Given the description of an element on the screen output the (x, y) to click on. 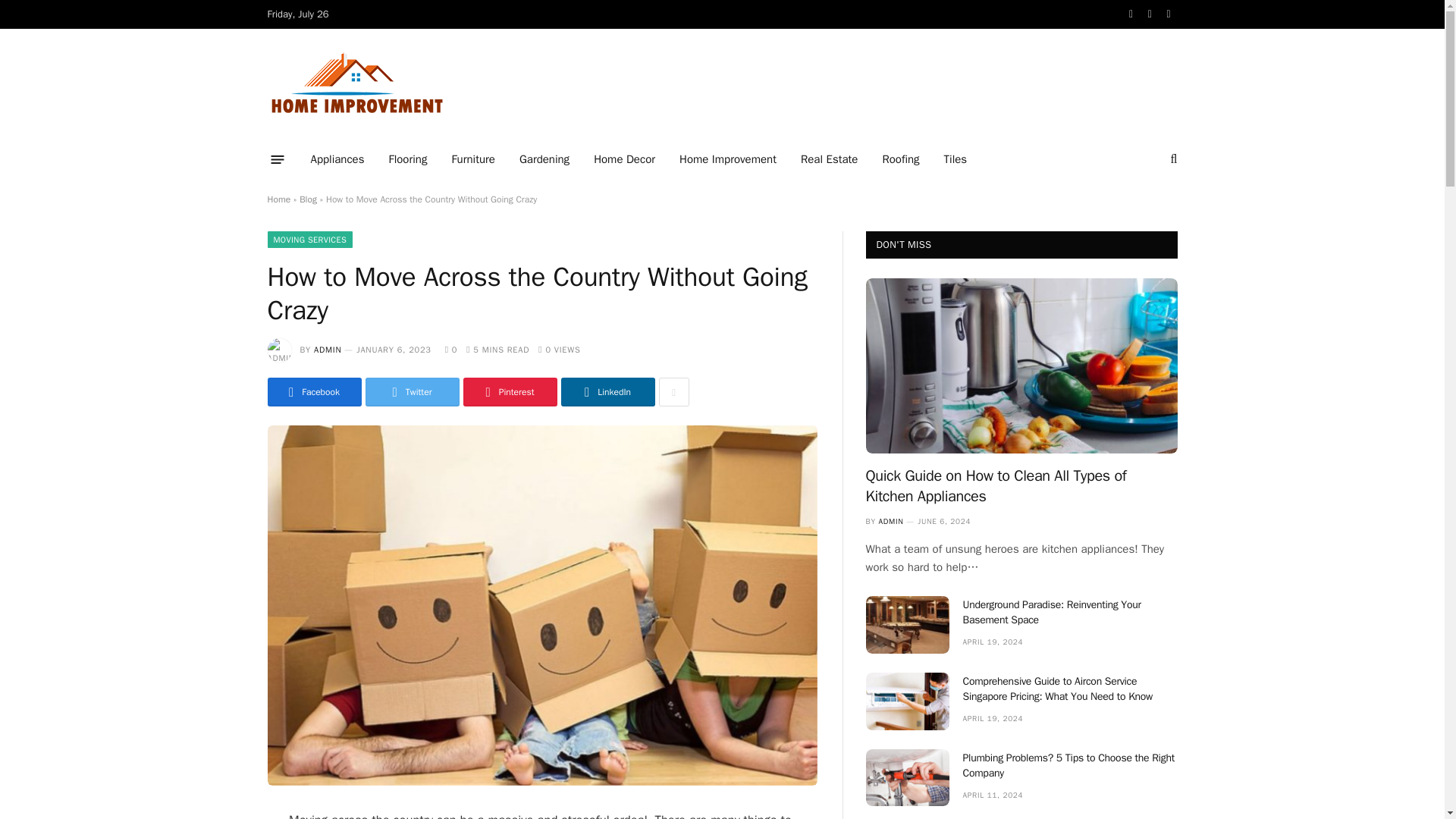
0 (451, 348)
Furniture (472, 159)
Real Estate (829, 159)
Twitter (412, 391)
Facebook (313, 391)
Home Improvement (356, 84)
Blog (308, 199)
Home (277, 199)
Flooring (407, 159)
Gardening (543, 159)
Share on LinkedIn (607, 391)
Share on Pinterest (509, 391)
MOVING SERVICES (309, 239)
Roofing (900, 159)
0 Article Views (558, 348)
